Given the description of an element on the screen output the (x, y) to click on. 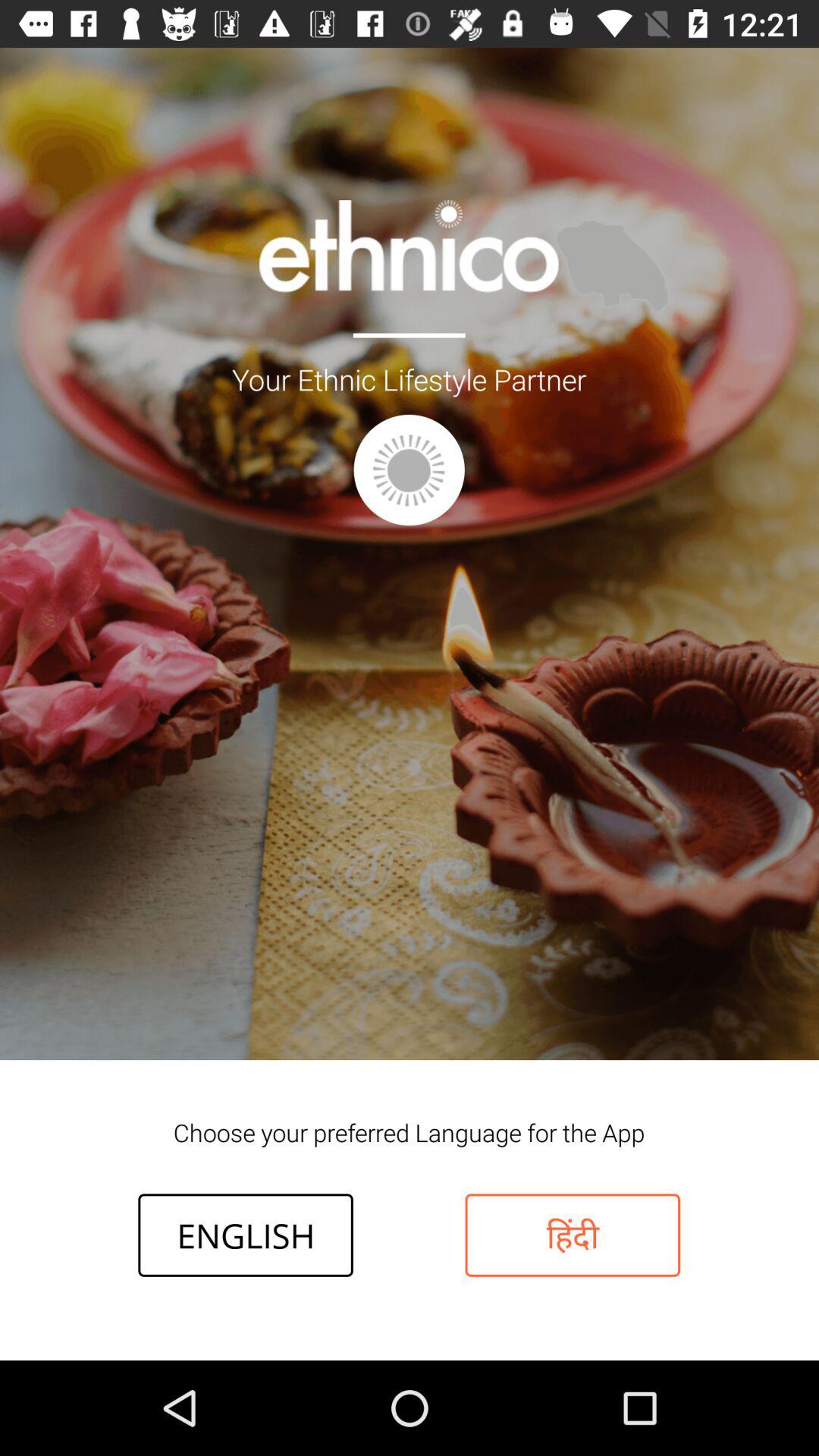
turn off item at the bottom left corner (245, 1234)
